Given the description of an element on the screen output the (x, y) to click on. 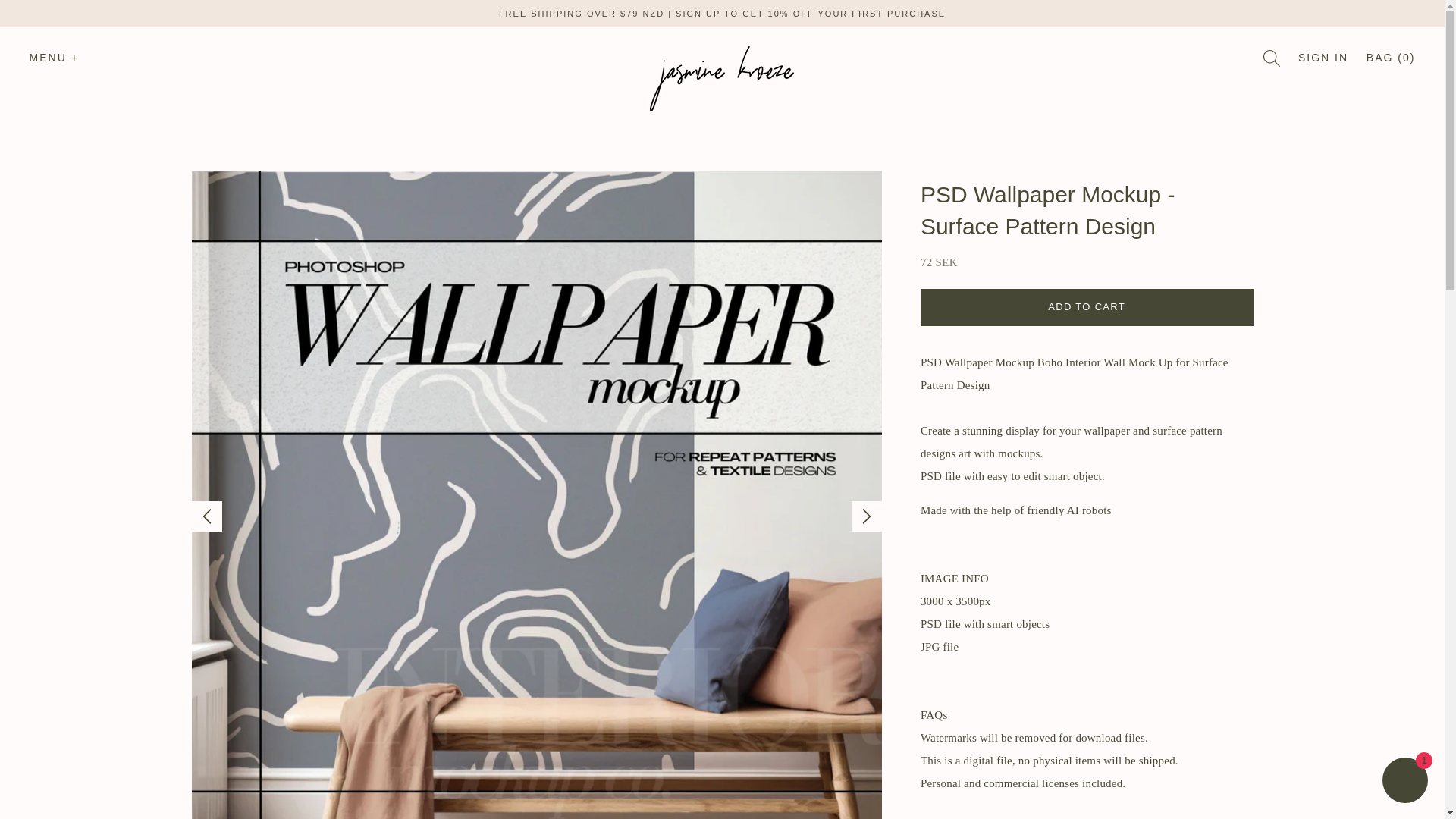
SIGN IN (1322, 57)
ADD TO CART (1086, 307)
Shopify online store chat (1404, 781)
